Given the description of an element on the screen output the (x, y) to click on. 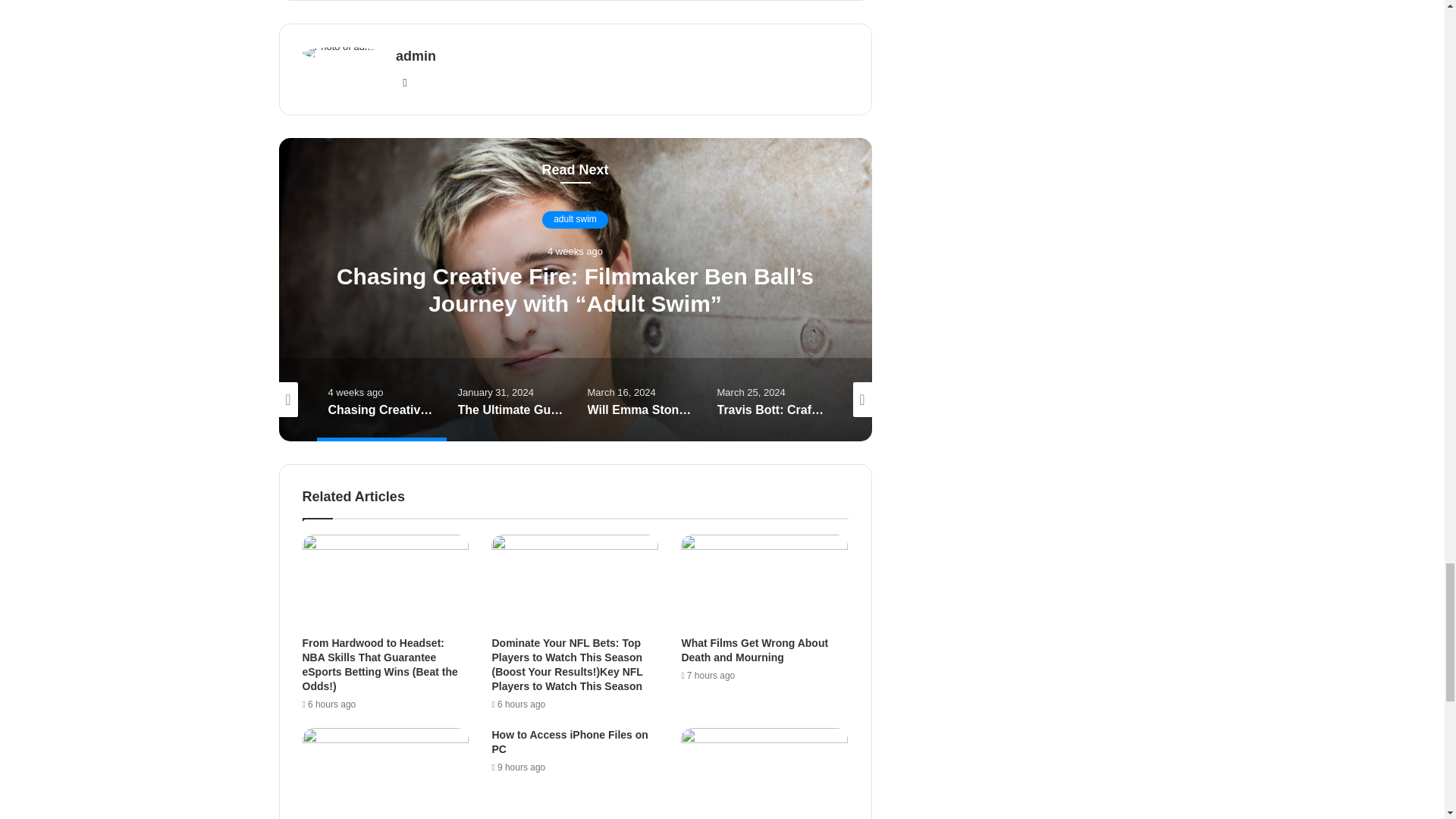
Website (404, 82)
admin (415, 55)
